Given the description of an element on the screen output the (x, y) to click on. 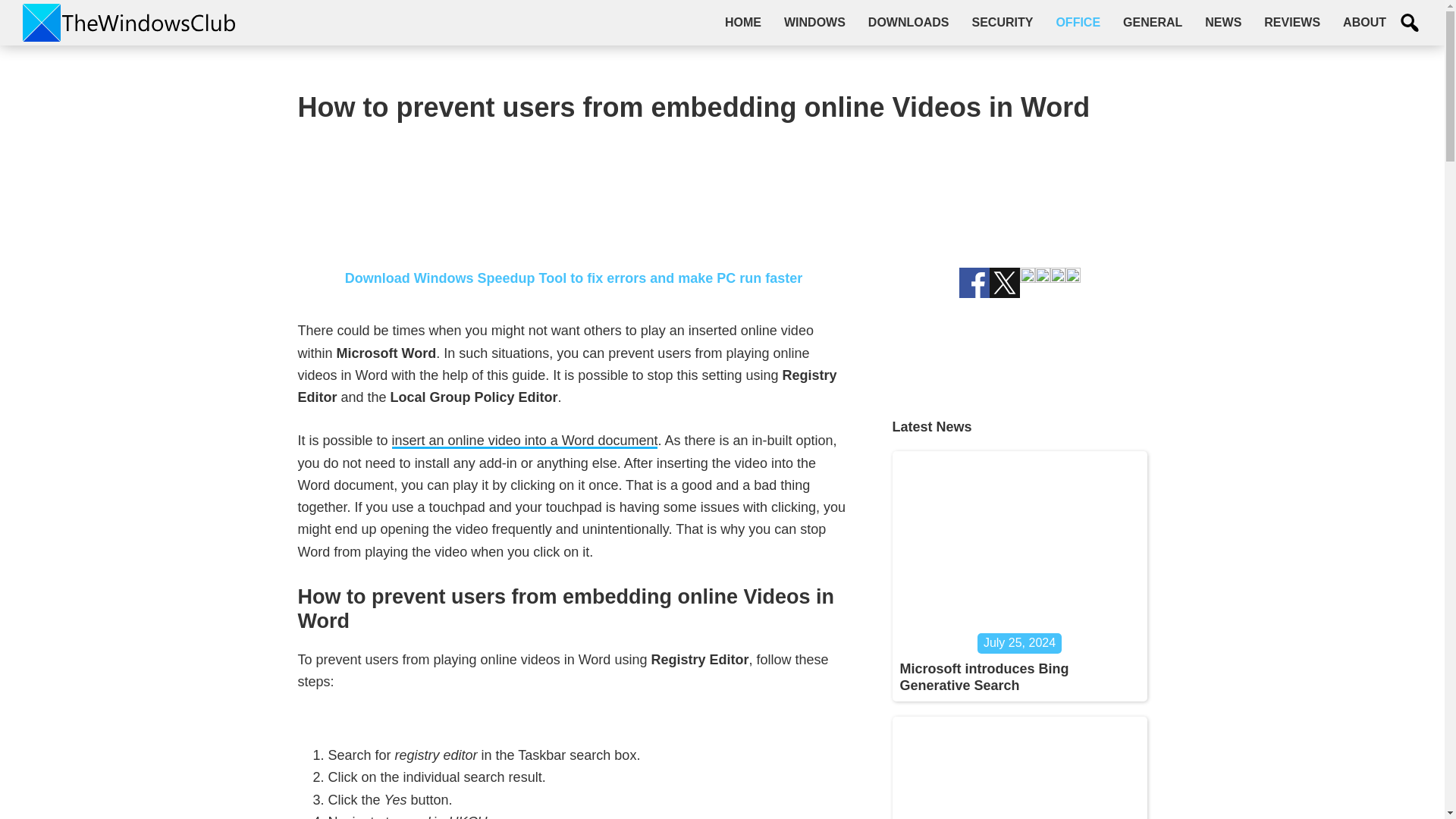
REVIEWS (1292, 22)
GENERAL (1152, 22)
WINDOWS (815, 22)
Microsoft introduces Bing Generative Search (983, 676)
OFFICE (1077, 22)
insert an online video into a Word document (524, 440)
NEWS (1222, 22)
DOWNLOADS (908, 22)
